Given the description of an element on the screen output the (x, y) to click on. 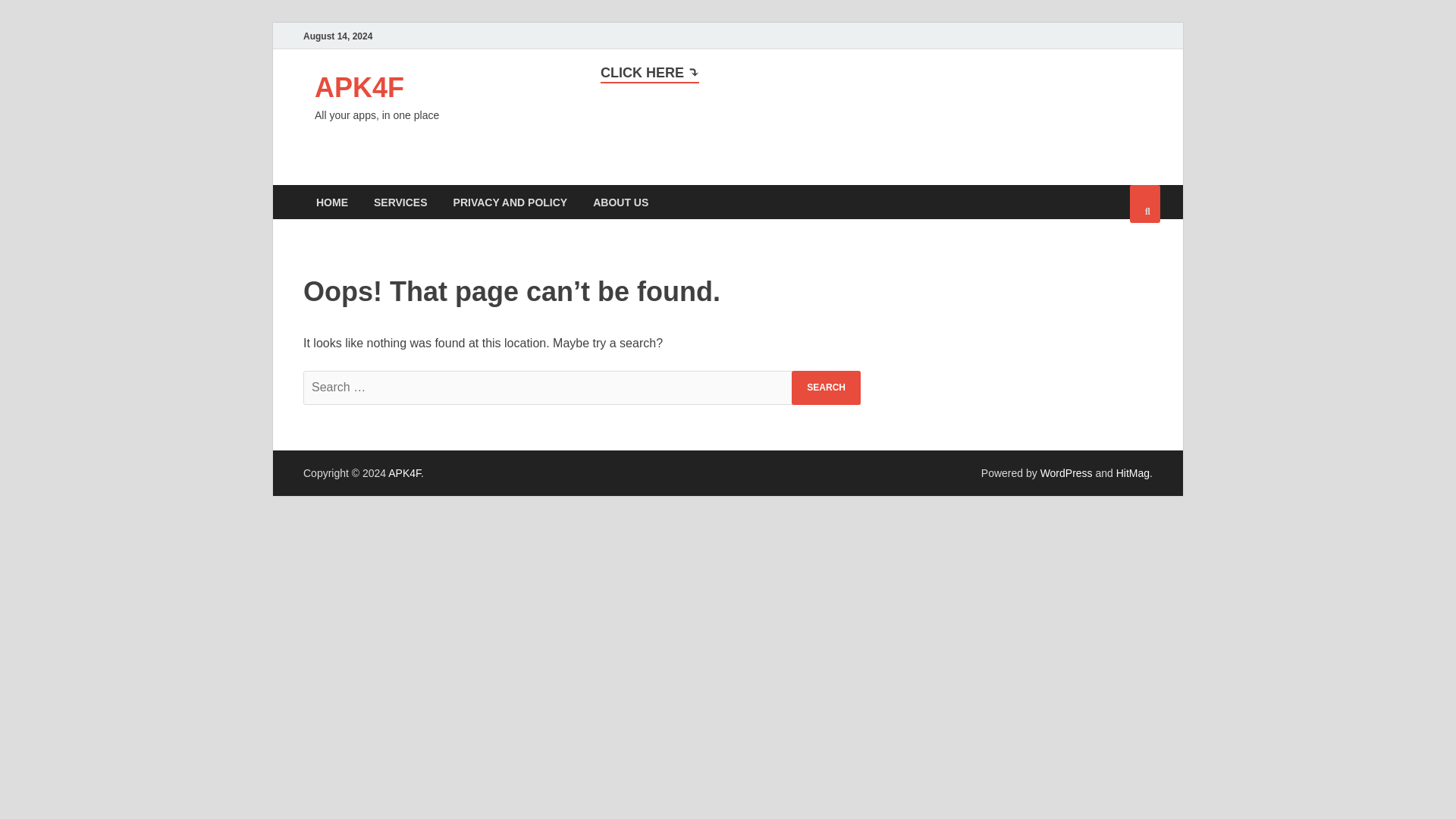
SERVICES (401, 202)
Search (826, 387)
Search (826, 387)
Search (826, 387)
HOME (331, 202)
PRIVACY AND POLICY (510, 202)
APK4F (359, 87)
ABOUT US (620, 202)
